Given the description of an element on the screen output the (x, y) to click on. 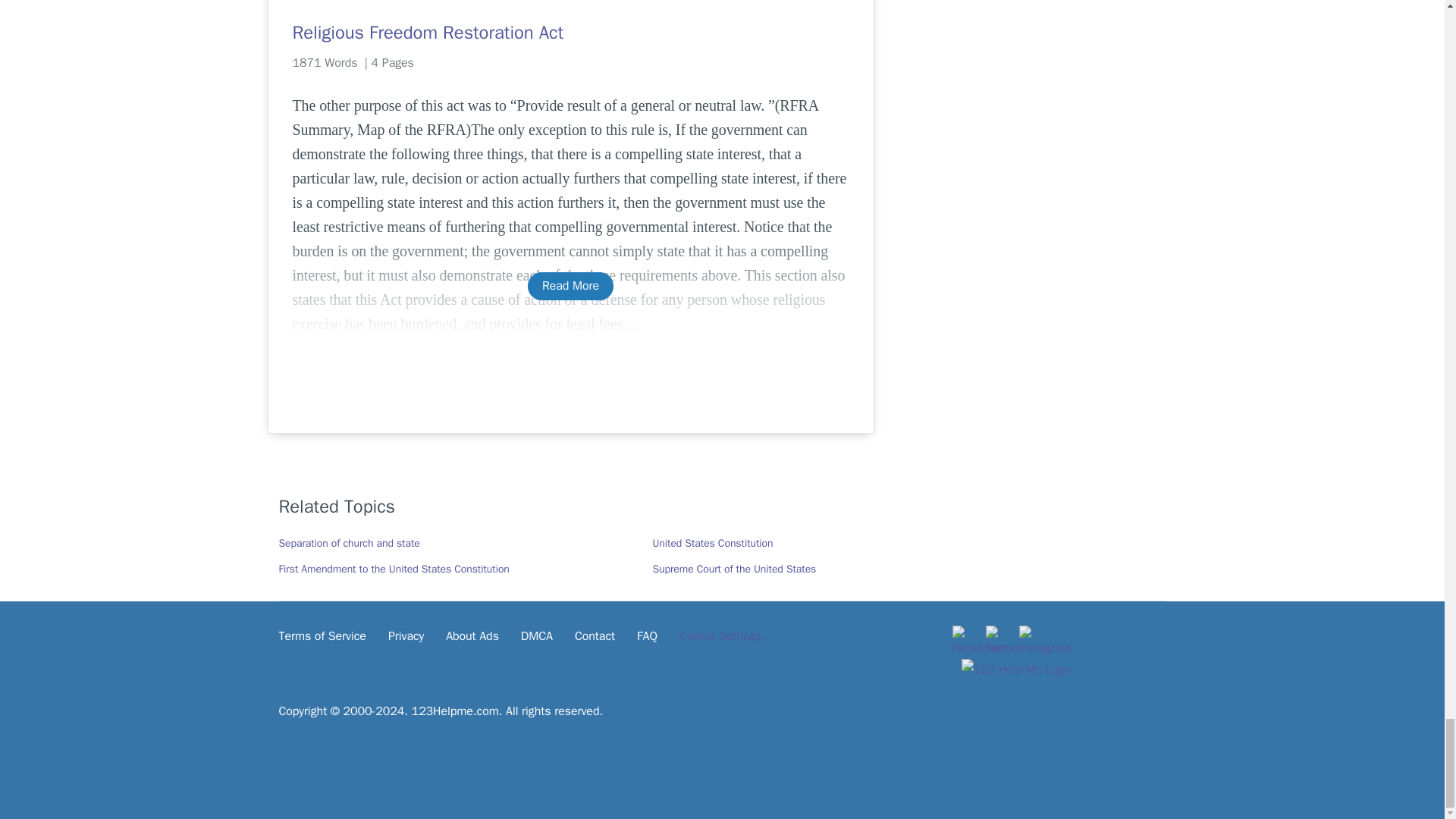
Separation of church and state (349, 543)
First Amendment to the United States Constitution (394, 568)
United States Constitution (712, 543)
Supreme Court of the United States (733, 568)
